Given the description of an element on the screen output the (x, y) to click on. 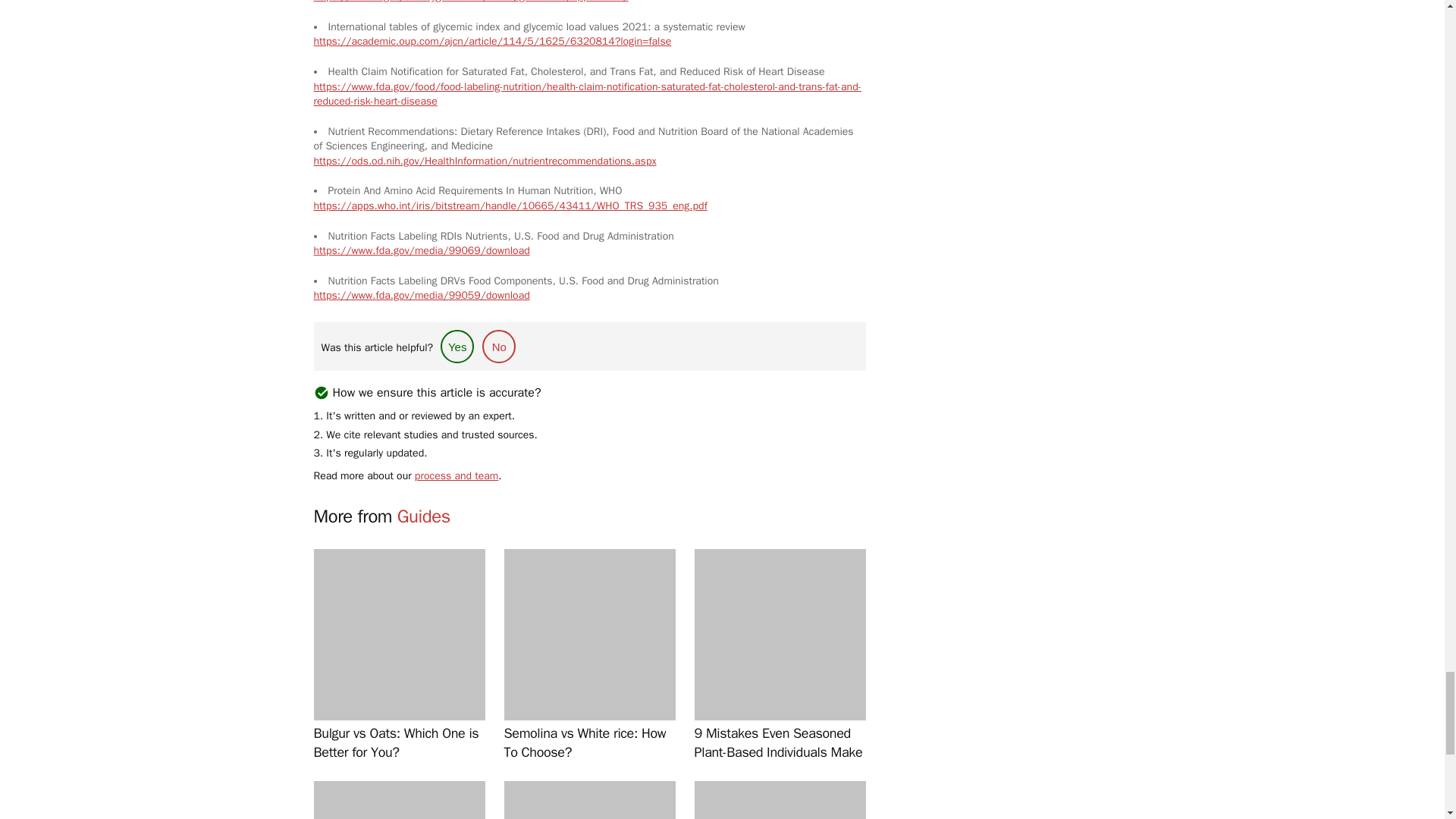
process and team (455, 475)
Yes (457, 346)
No (498, 346)
